Given the description of an element on the screen output the (x, y) to click on. 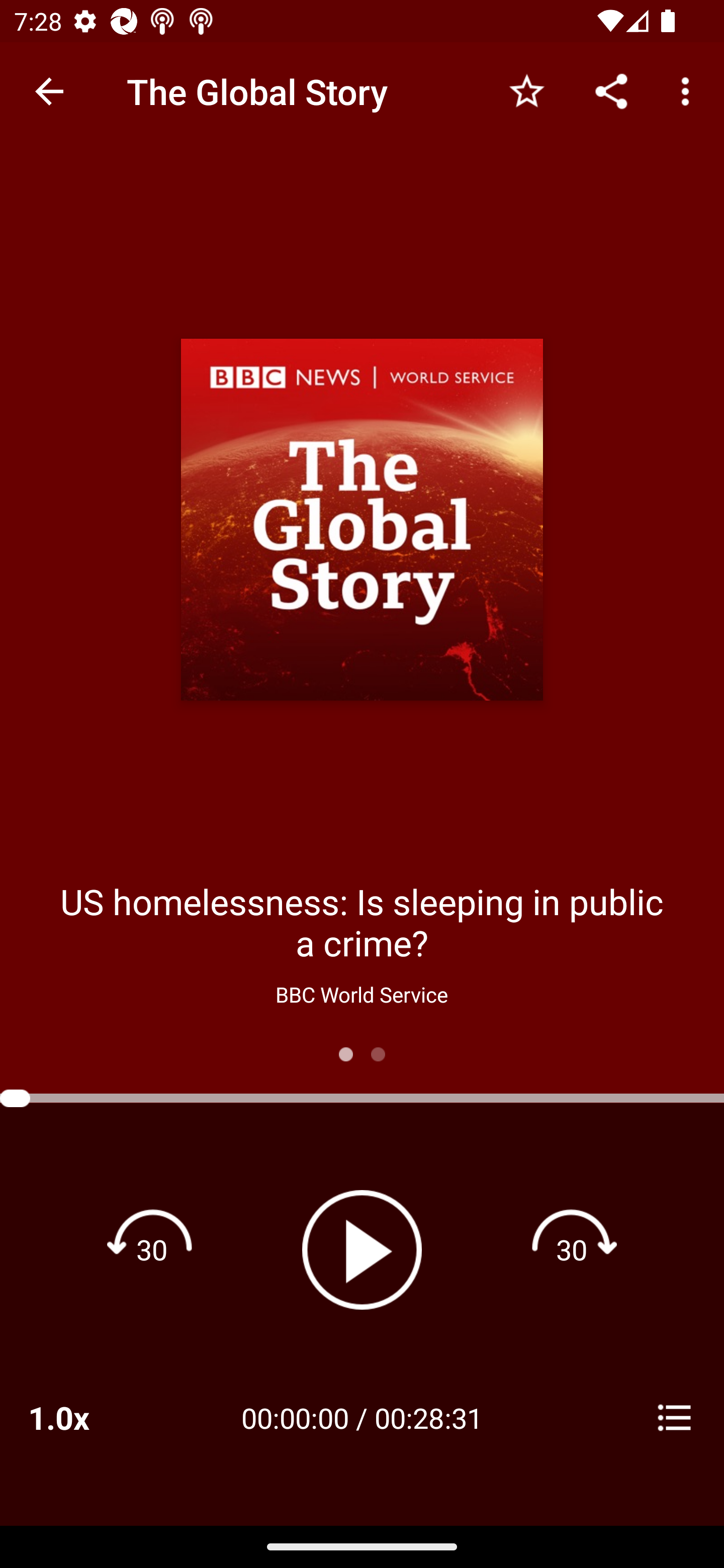
Navigate up (49, 91)
Add to Favorites (526, 90)
Share... (611, 90)
More options (688, 90)
BBC World Service (361, 994)
Play (361, 1249)
Rewind (151, 1249)
Fast forward (571, 1249)
1.0x Playback Speeds (84, 1417)
00:28:31 (428, 1417)
